Given the description of an element on the screen output the (x, y) to click on. 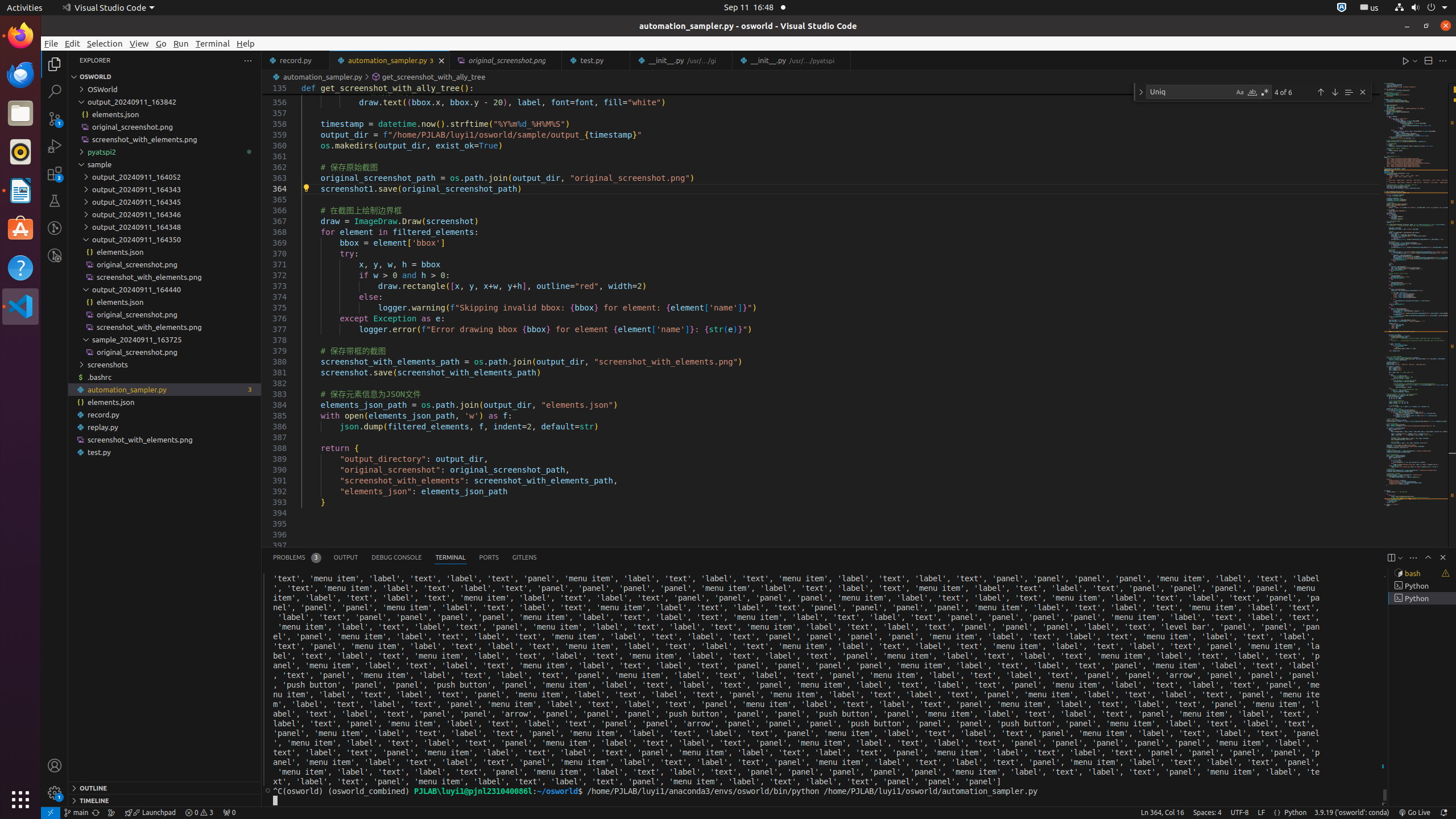
output_20240911_164350 Element type: tree-item (164, 239)
test.py Element type: tree-item (164, 451)
Match Case (Alt+C) Element type: check-box (1239, 91)
Terminal 2 Python Element type: list-item (1422, 585)
Explorer (Ctrl+Shift+E) Element type: page-tab (54, 63)
